Given the description of an element on the screen output the (x, y) to click on. 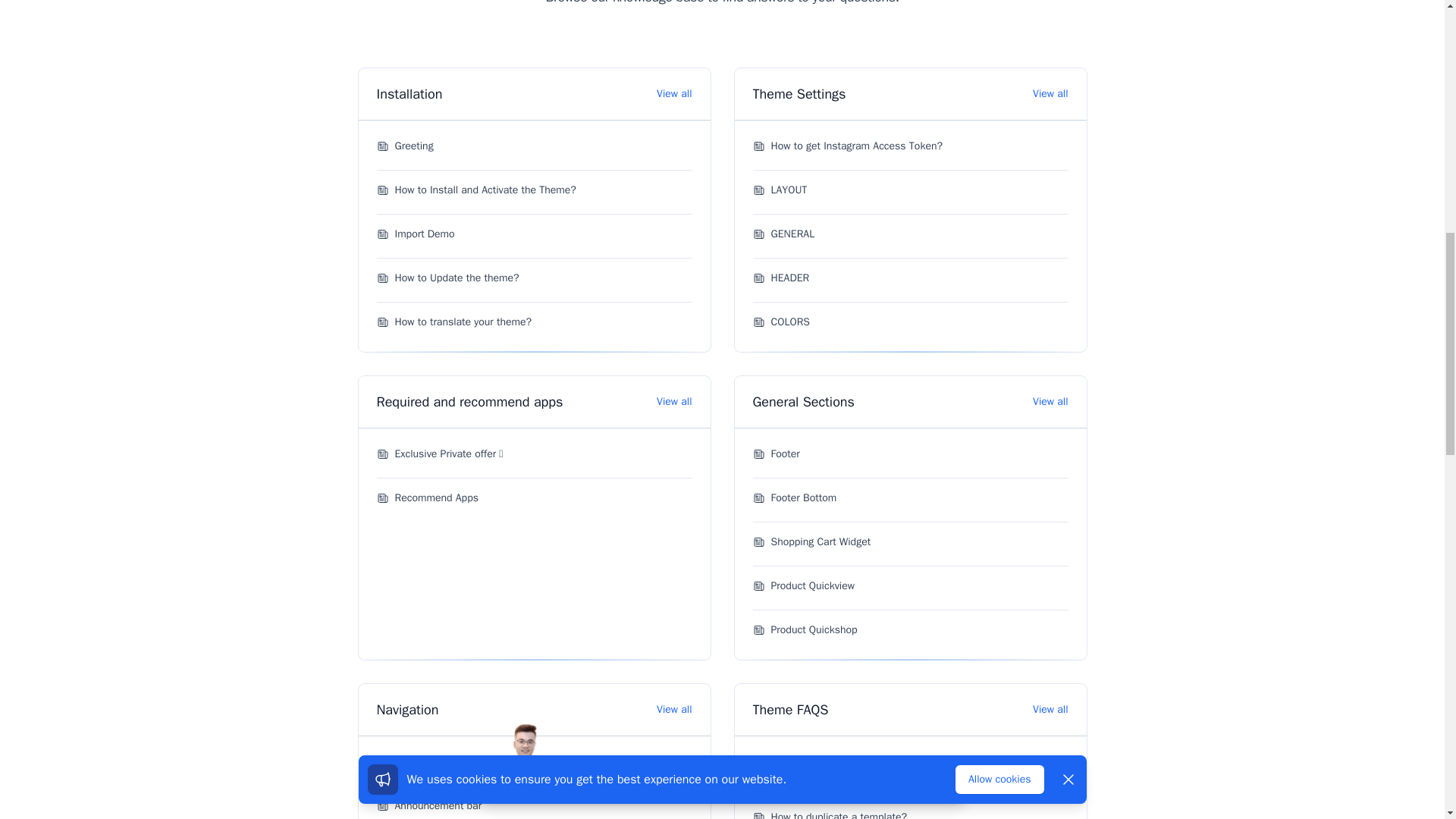
How to Update the theme? (446, 278)
LAYOUT (779, 190)
How to translate your theme? (453, 322)
Greeting (403, 145)
View all (673, 401)
View all (1049, 93)
How to Install and Activate the Theme? (475, 190)
How to get Instagram Access Token? (847, 145)
HEADER (780, 278)
COLORS (780, 322)
Import Demo (414, 233)
GENERAL (782, 233)
View all (673, 93)
